Given the description of an element on the screen output the (x, y) to click on. 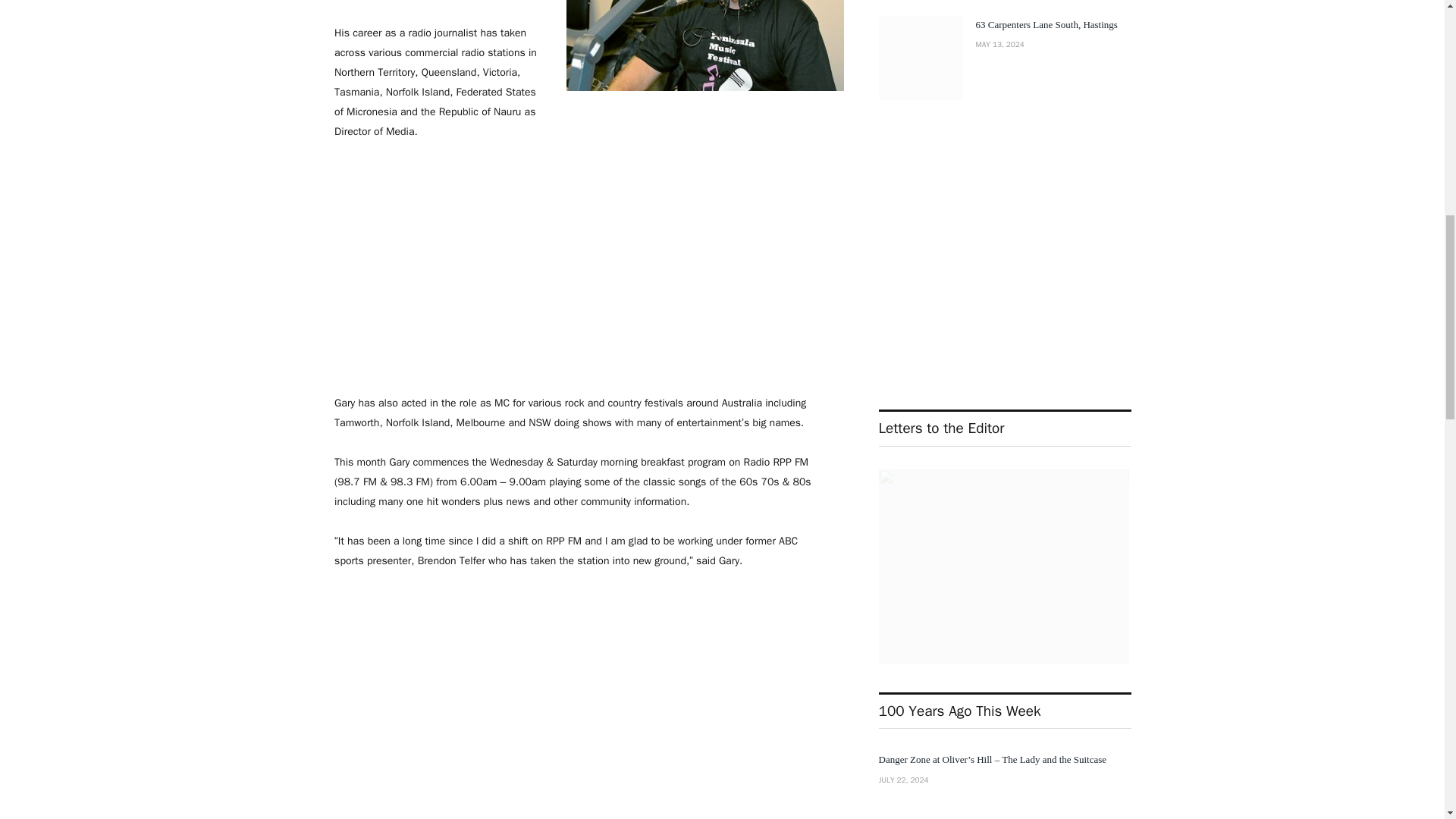
Advertisement (579, 267)
Advertisement (579, 696)
